Given the description of an element on the screen output the (x, y) to click on. 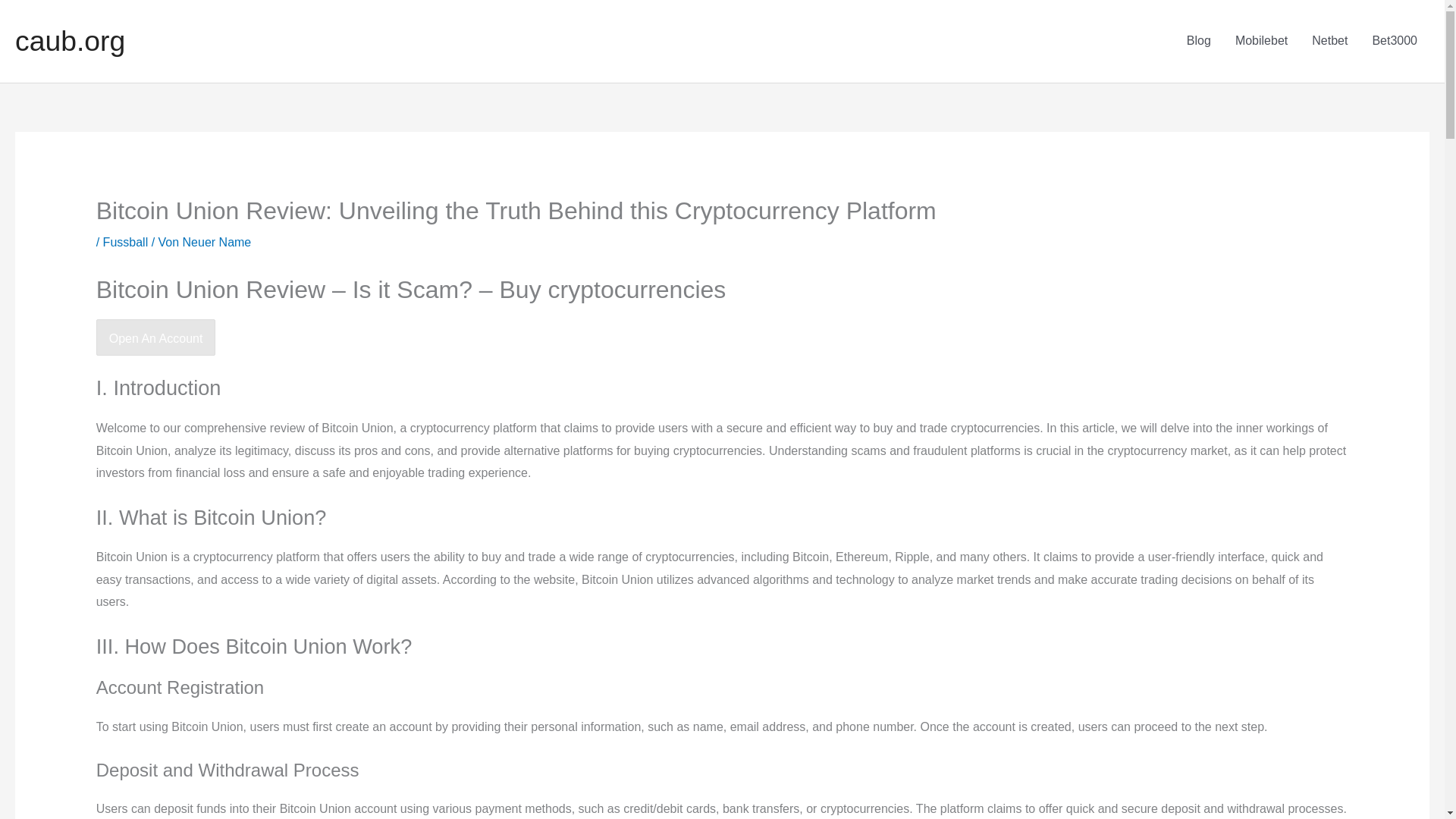
Netbet (1329, 40)
Blog (1198, 40)
Open An Account (155, 338)
Bet3000 (1394, 40)
Neuer Name (217, 241)
Fussball (125, 241)
Open An Account (155, 337)
Mobilebet (1261, 40)
caub.org (69, 40)
